Given the description of an element on the screen output the (x, y) to click on. 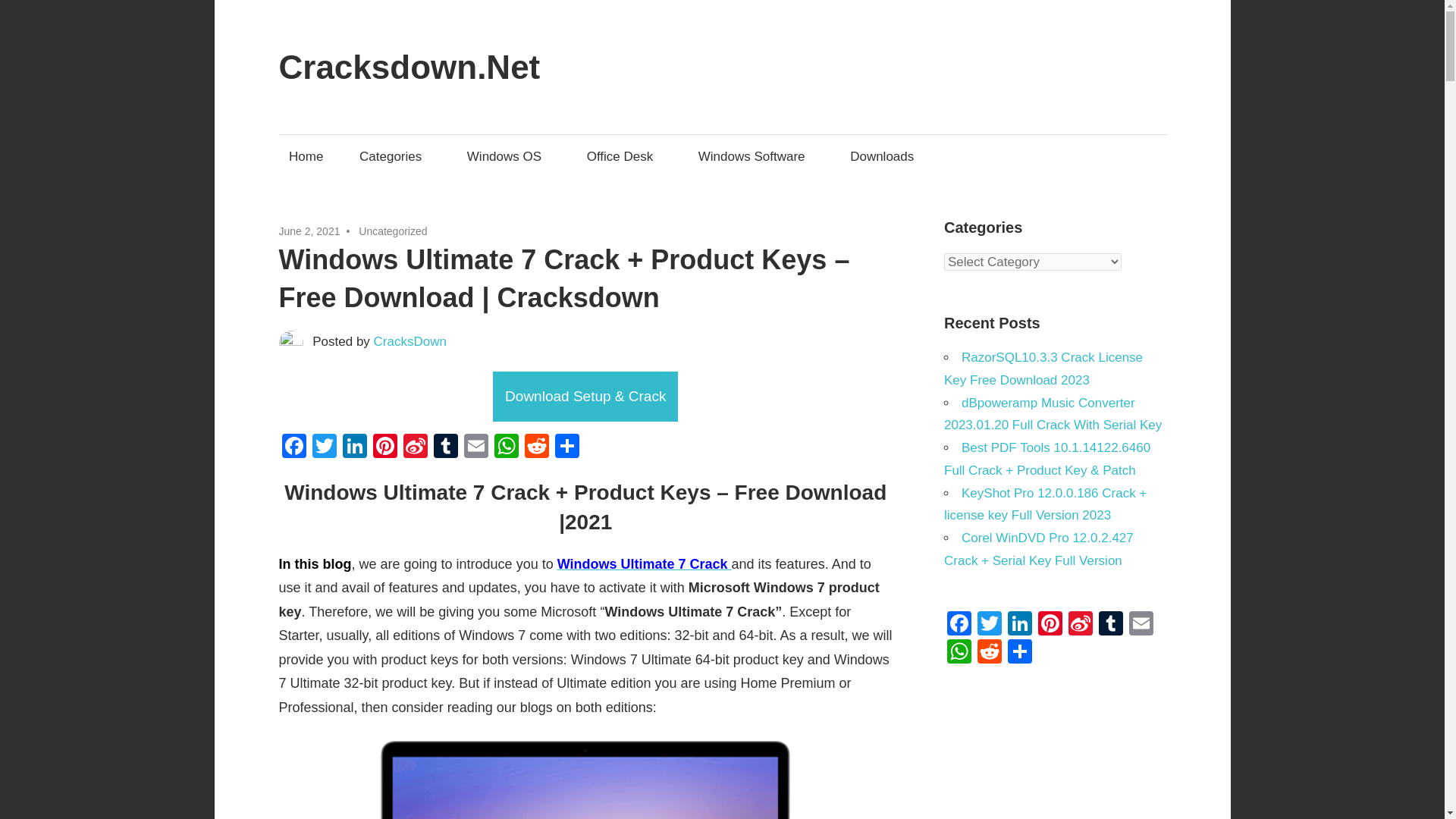
LinkedIn (354, 447)
Sina Weibo (415, 447)
Office Desk (624, 156)
Email (476, 447)
CracksDown (410, 341)
June 2, 2021 (309, 231)
Facebook (293, 447)
Twitter (323, 447)
LinkedIn (354, 447)
Home (306, 156)
Downloads (886, 156)
Tumblr (445, 447)
Reddit (536, 447)
Uncategorized (392, 231)
Windows Software (755, 156)
